Given the description of an element on the screen output the (x, y) to click on. 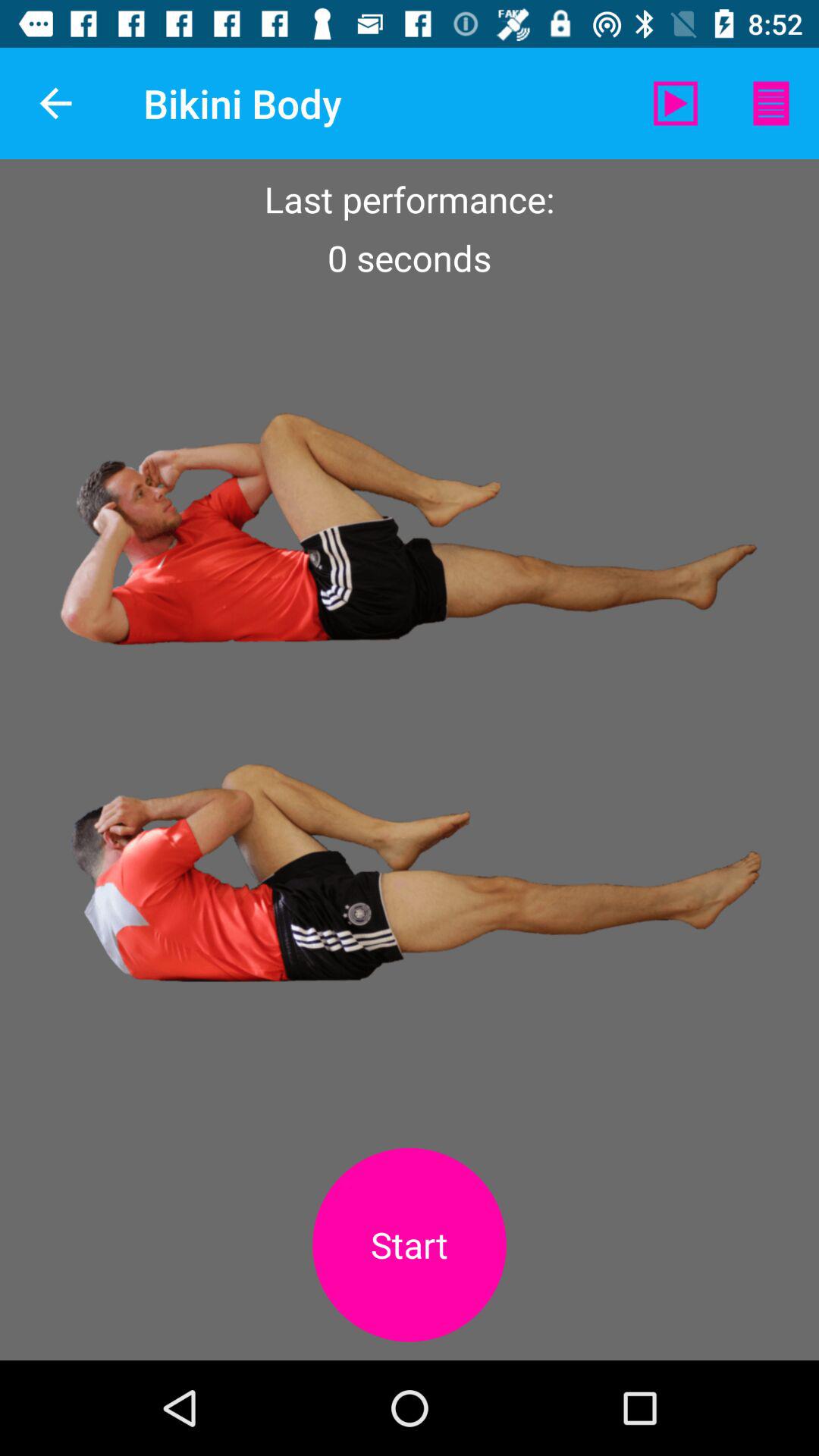
tap the icon next to bikini body app (55, 103)
